Given the description of an element on the screen output the (x, y) to click on. 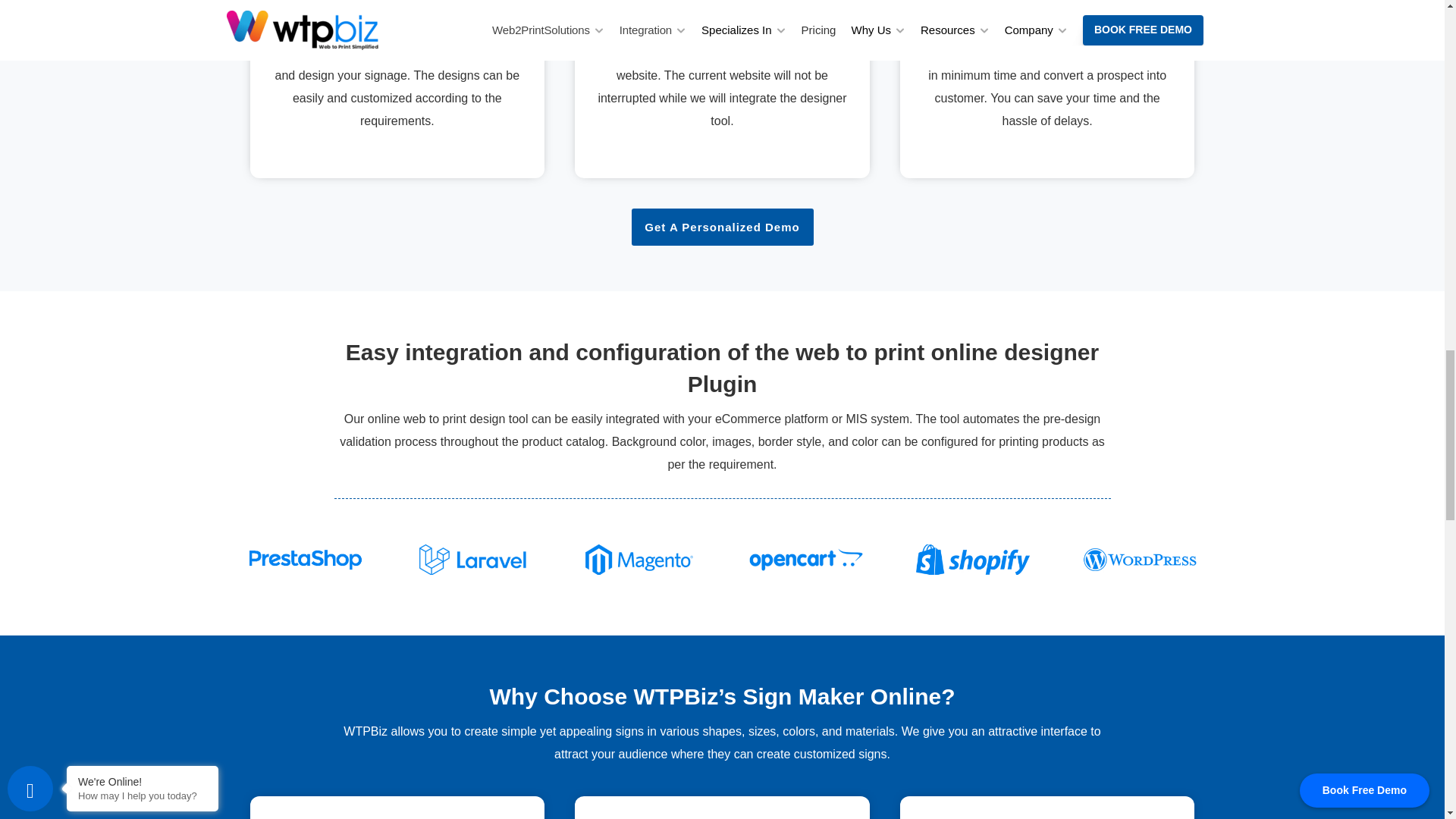
Get A Personalized Demo (721, 226)
